Given the description of an element on the screen output the (x, y) to click on. 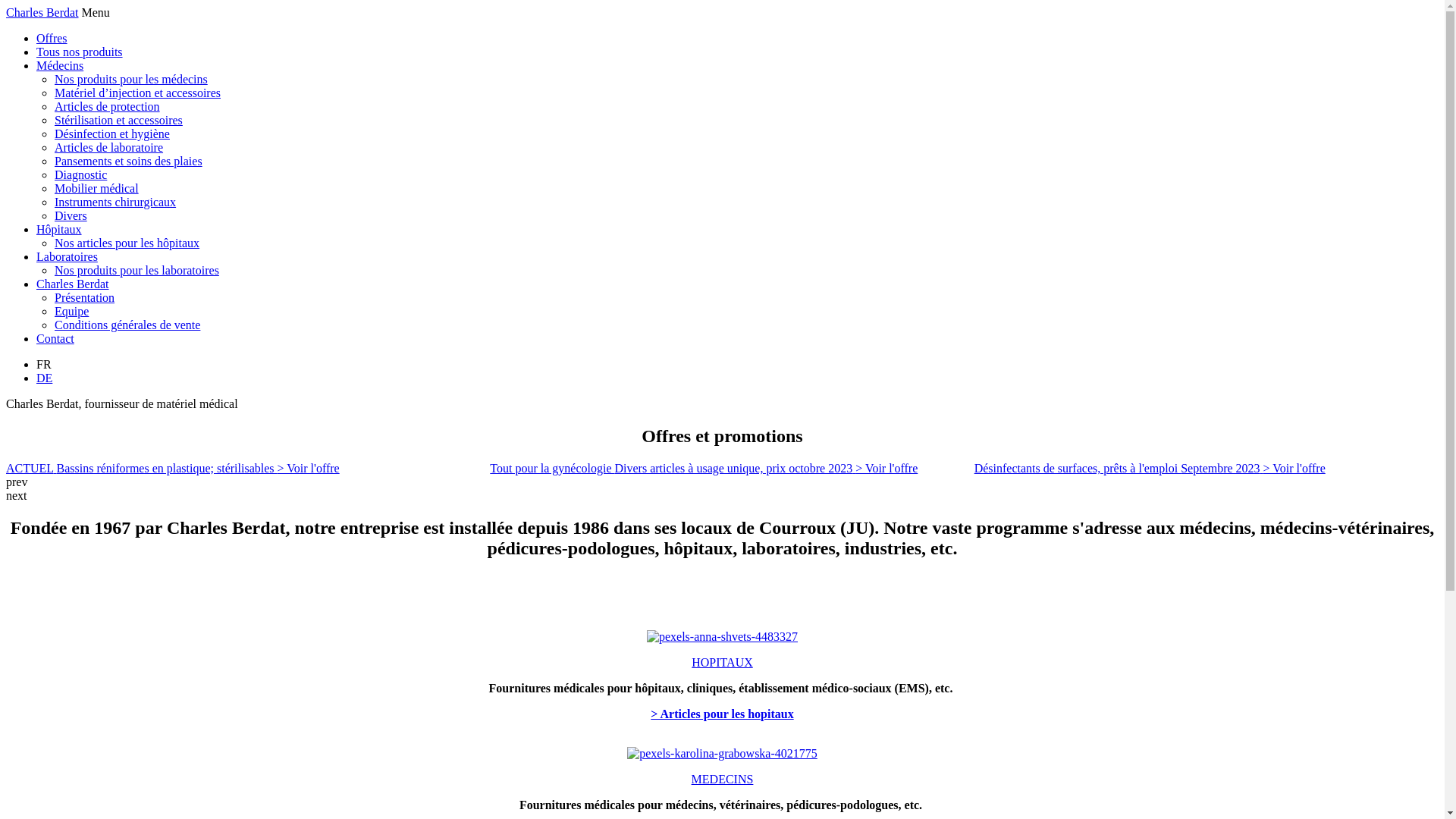
Articles de protection Element type: text (107, 106)
Contact Element type: text (55, 338)
Tous nos produits Element type: text (79, 51)
Pansements et soins des plaies Element type: text (128, 160)
Divers Element type: text (70, 215)
Nos produits pour les laboratoires Element type: text (136, 269)
MEDECINS Element type: text (722, 778)
Charles Berdat Element type: text (42, 12)
Menu Element type: text (95, 12)
Articles de laboratoire Element type: text (108, 147)
Offres Element type: text (51, 37)
Equipe Element type: text (71, 310)
> Articles pour les hopitaux Element type: text (721, 720)
Laboratoires Element type: text (66, 256)
HOPITAUX Element type: text (722, 661)
Charles Berdat Element type: text (72, 283)
Instruments chirurgicaux Element type: text (114, 201)
DE Element type: text (44, 377)
Diagnostic Element type: text (80, 174)
